Given the description of an element on the screen output the (x, y) to click on. 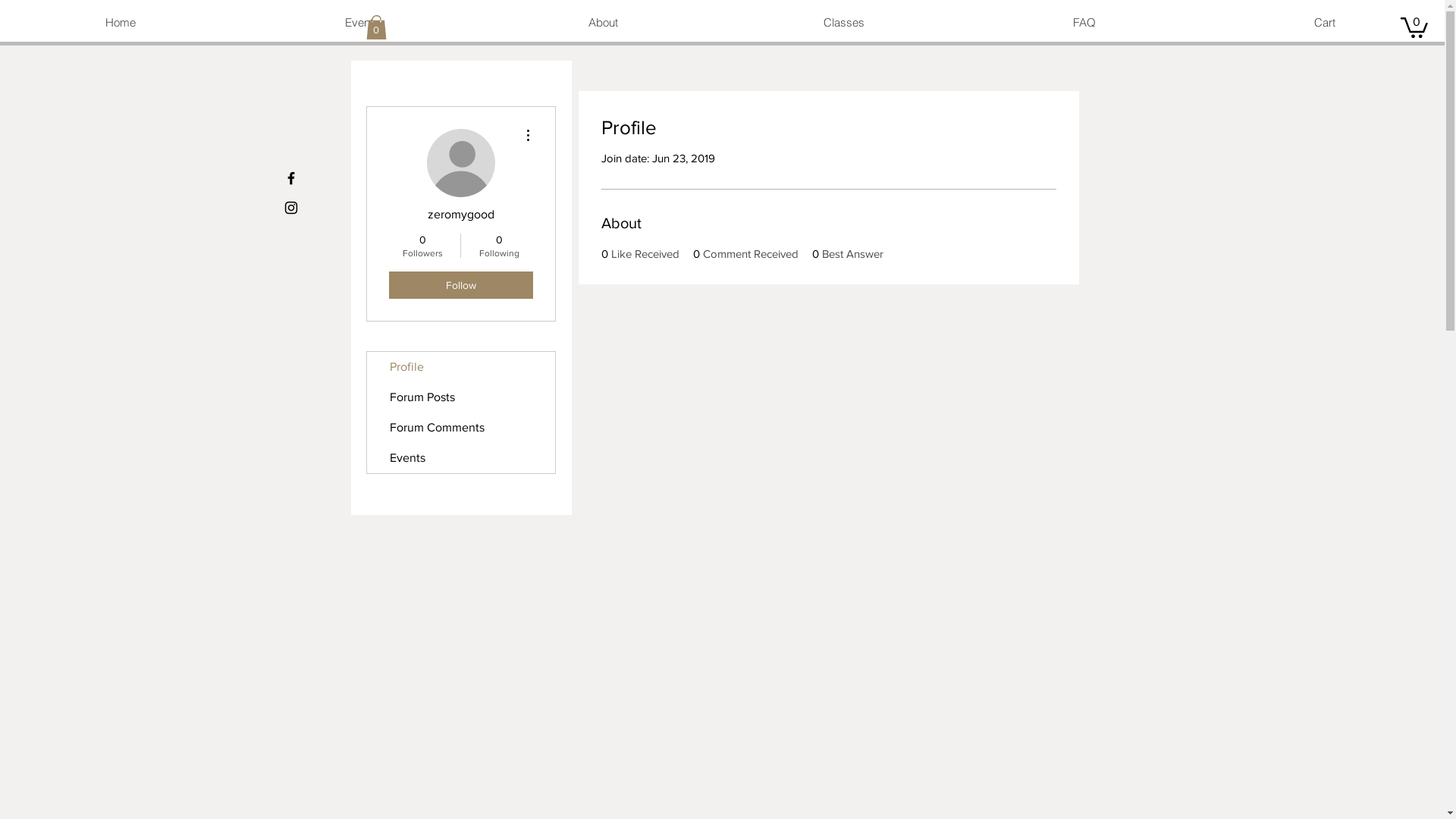
FAQ Element type: text (1083, 22)
Cart Element type: text (1324, 22)
Home Element type: text (120, 22)
Follow Element type: text (460, 284)
Forum Posts Element type: text (461, 396)
Events Element type: text (461, 457)
Forum Comments Element type: text (461, 426)
Events Element type: text (361, 22)
0 Element type: text (1413, 26)
0 Element type: text (375, 27)
About Element type: text (602, 22)
0
Following Element type: text (499, 244)
Classes Element type: text (843, 22)
0
Followers Element type: text (421, 244)
Profile Element type: text (461, 366)
